Given the description of an element on the screen output the (x, y) to click on. 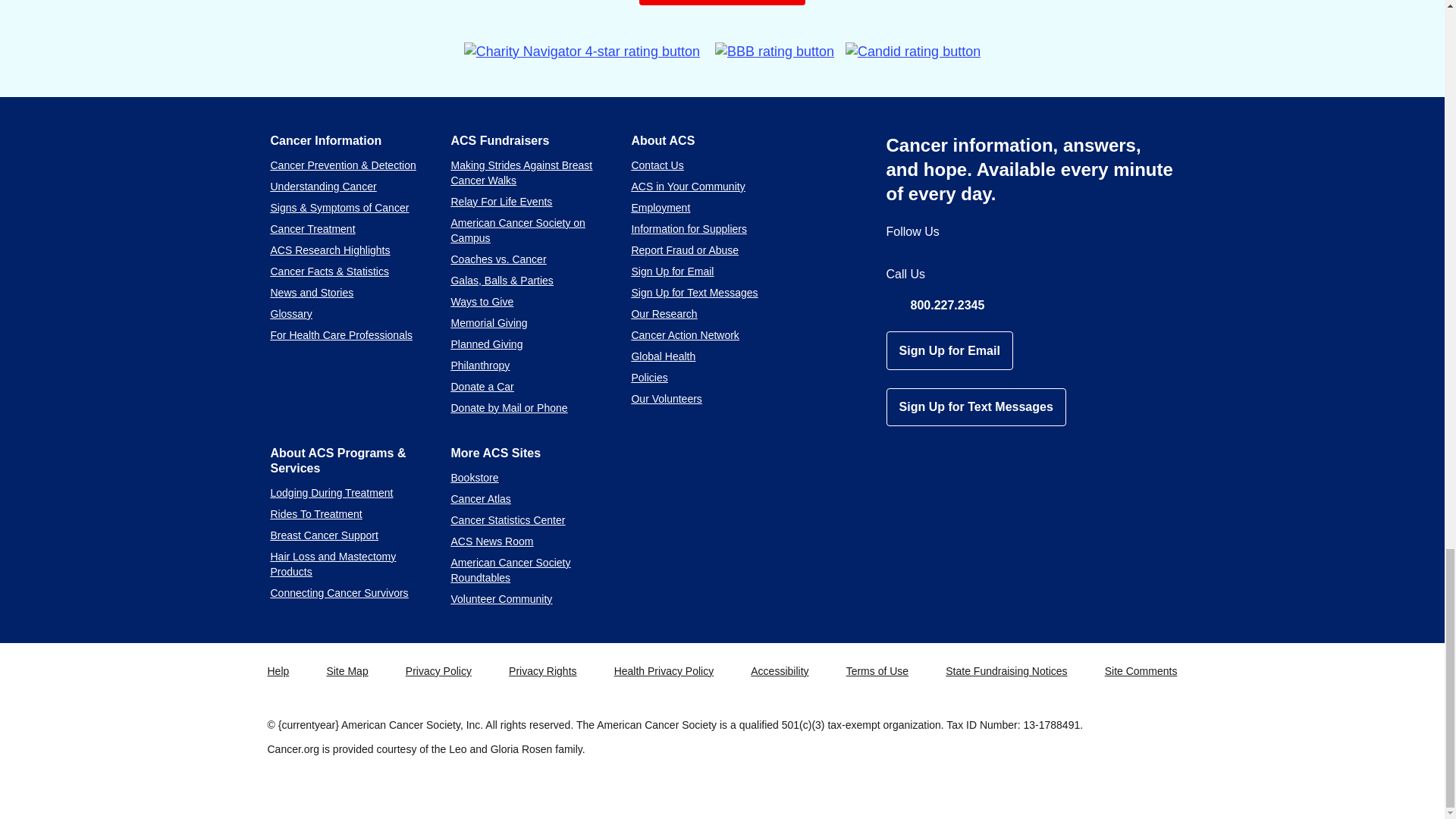
Cancer Treatment (312, 228)
Understanding Cancer (322, 186)
ACS Research Highlights (329, 250)
